Given the description of an element on the screen output the (x, y) to click on. 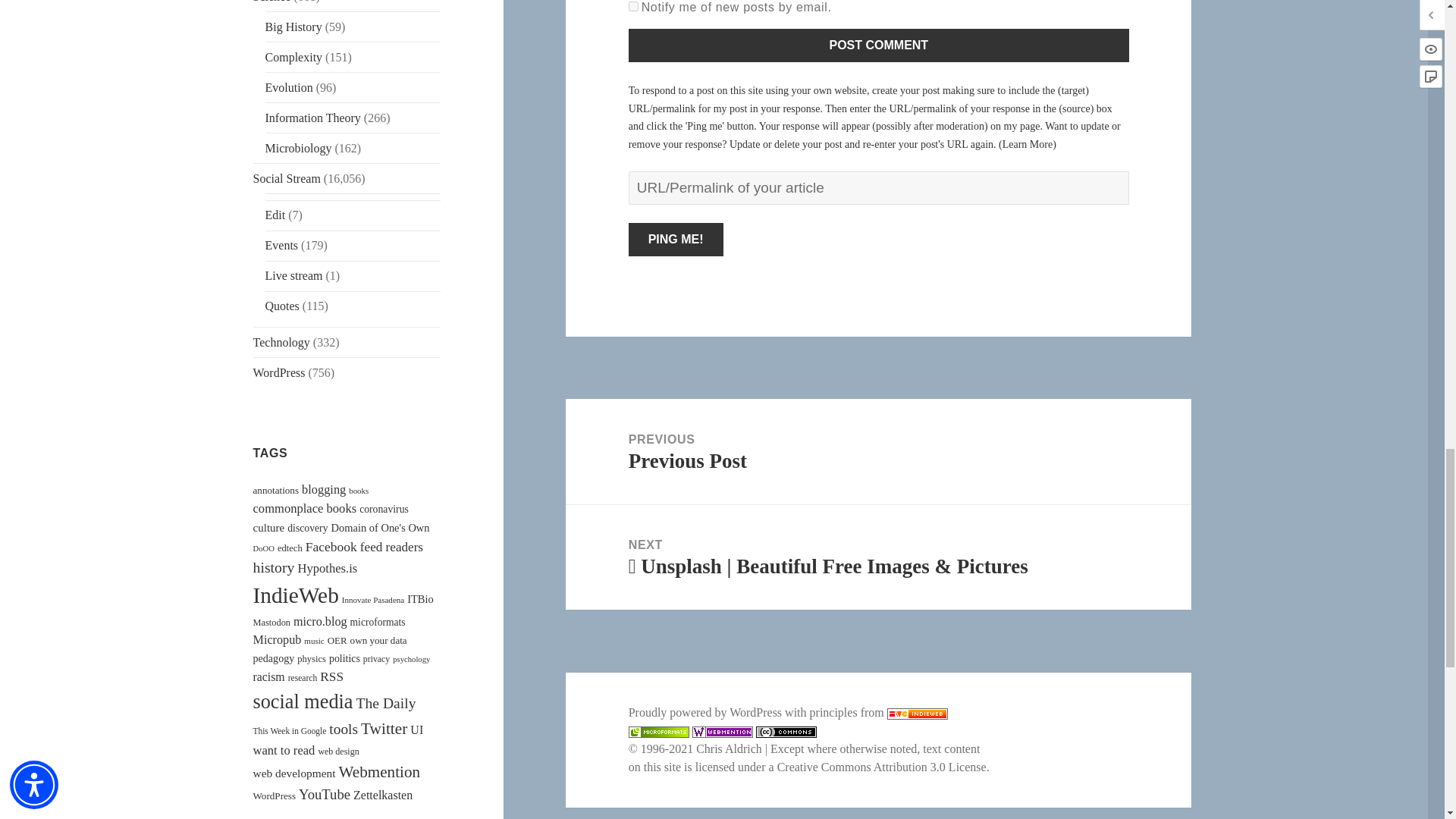
subscribe (633, 6)
Ping me! (675, 239)
Post Comment (878, 45)
